Given the description of an element on the screen output the (x, y) to click on. 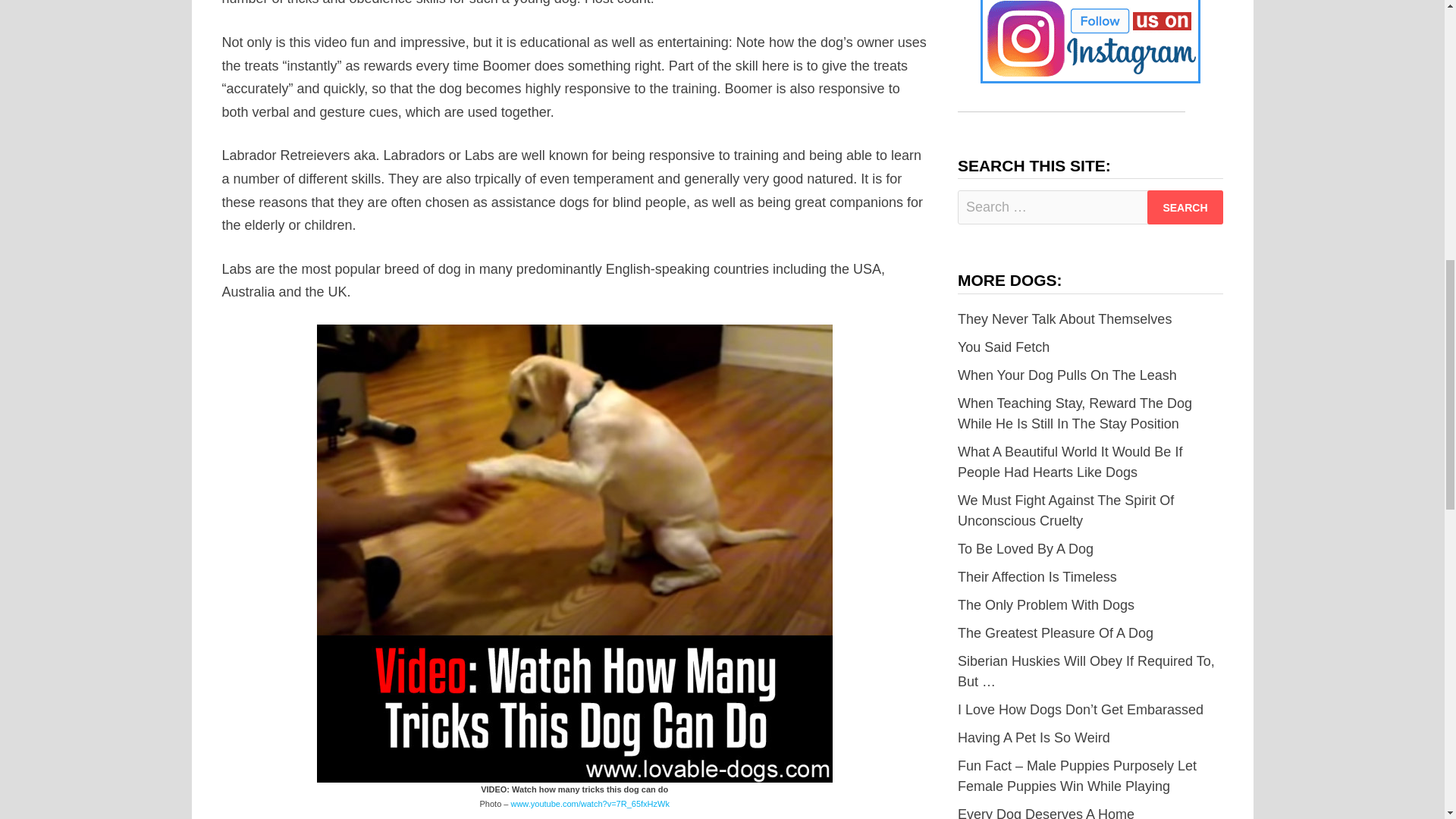
The Only Problem With Dogs (1046, 604)
To Be Loved By A Dog (1025, 548)
We Must Fight Against The Spirit Of Unconscious Cruelty (1065, 510)
The Greatest Pleasure Of A Dog (1055, 632)
Search (1185, 207)
When Your Dog Pulls On The Leash (1067, 375)
You Said Fetch (1003, 346)
Search (1185, 207)
They Never Talk About Themselves (1065, 319)
Search (1185, 207)
Their Affection Is Timeless (1037, 576)
